Given the description of an element on the screen output the (x, y) to click on. 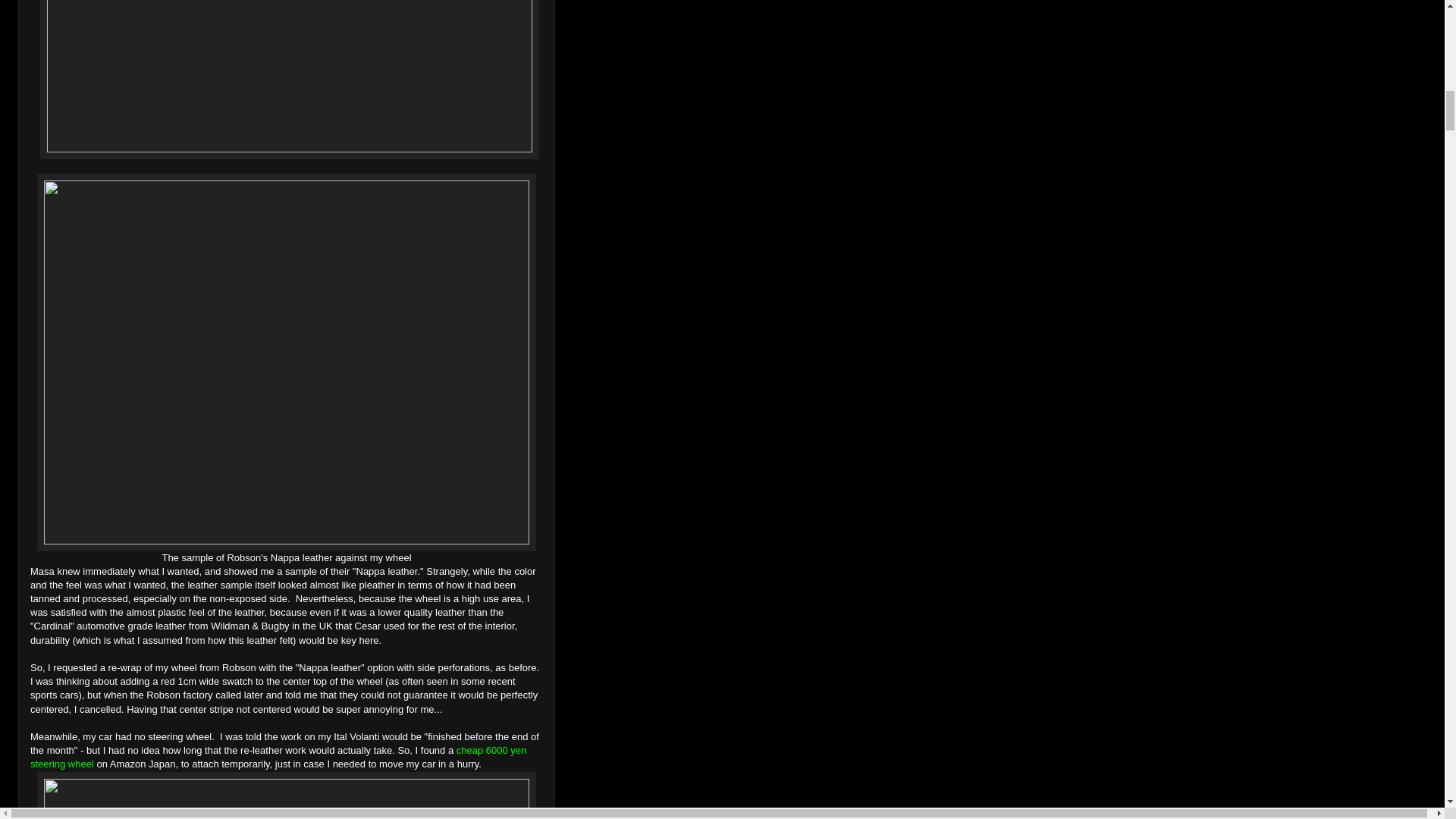
cheap 6000 yen steering wheel (277, 756)
